Given the description of an element on the screen output the (x, y) to click on. 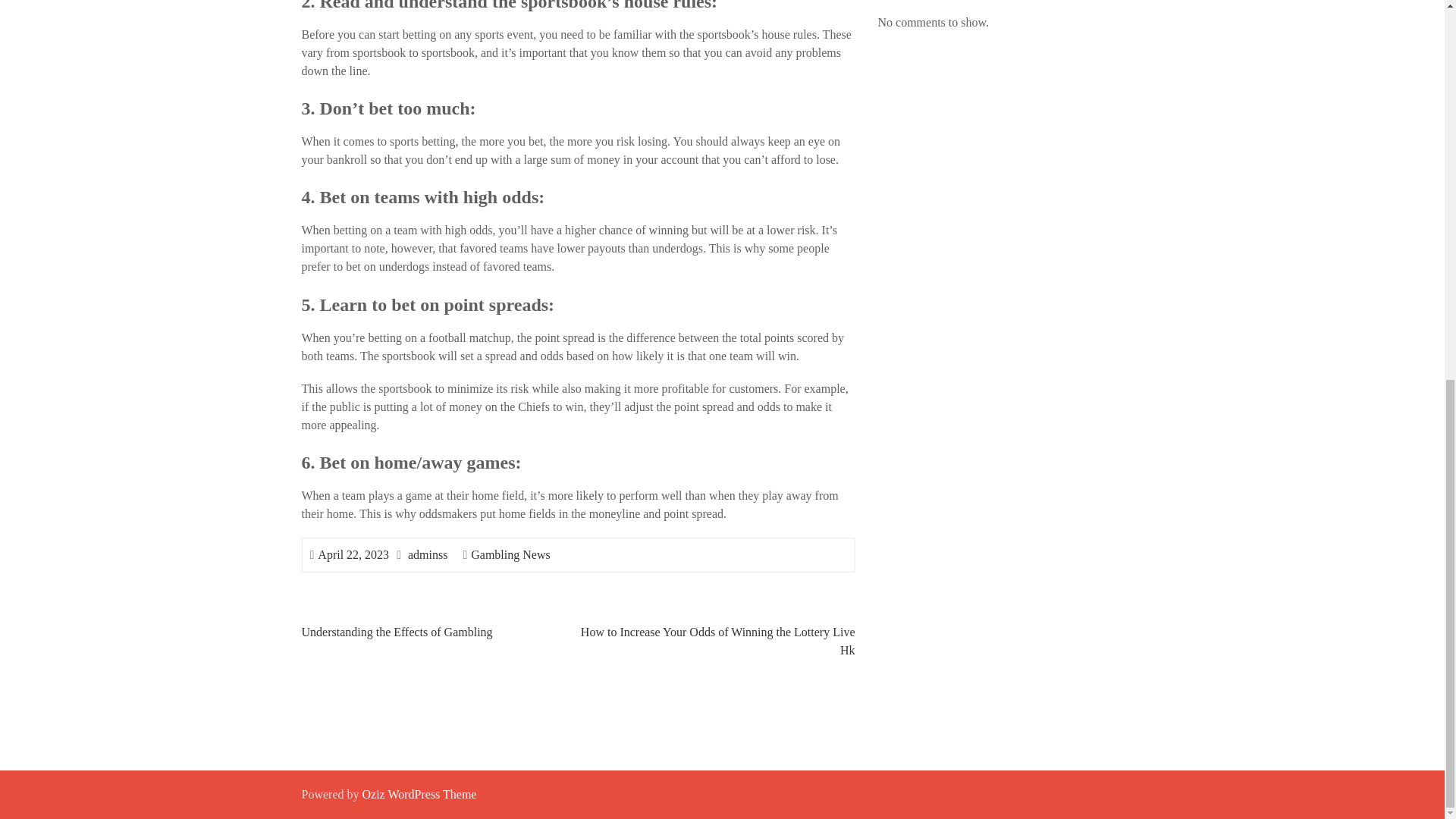
adminss (426, 554)
April 22, 2023 (352, 554)
How to Increase Your Odds of Winning the Lottery Live Hk (718, 640)
Gambling News (510, 554)
Understanding the Effects of Gambling (397, 631)
Oziz WordPress Theme (418, 793)
